Given the description of an element on the screen output the (x, y) to click on. 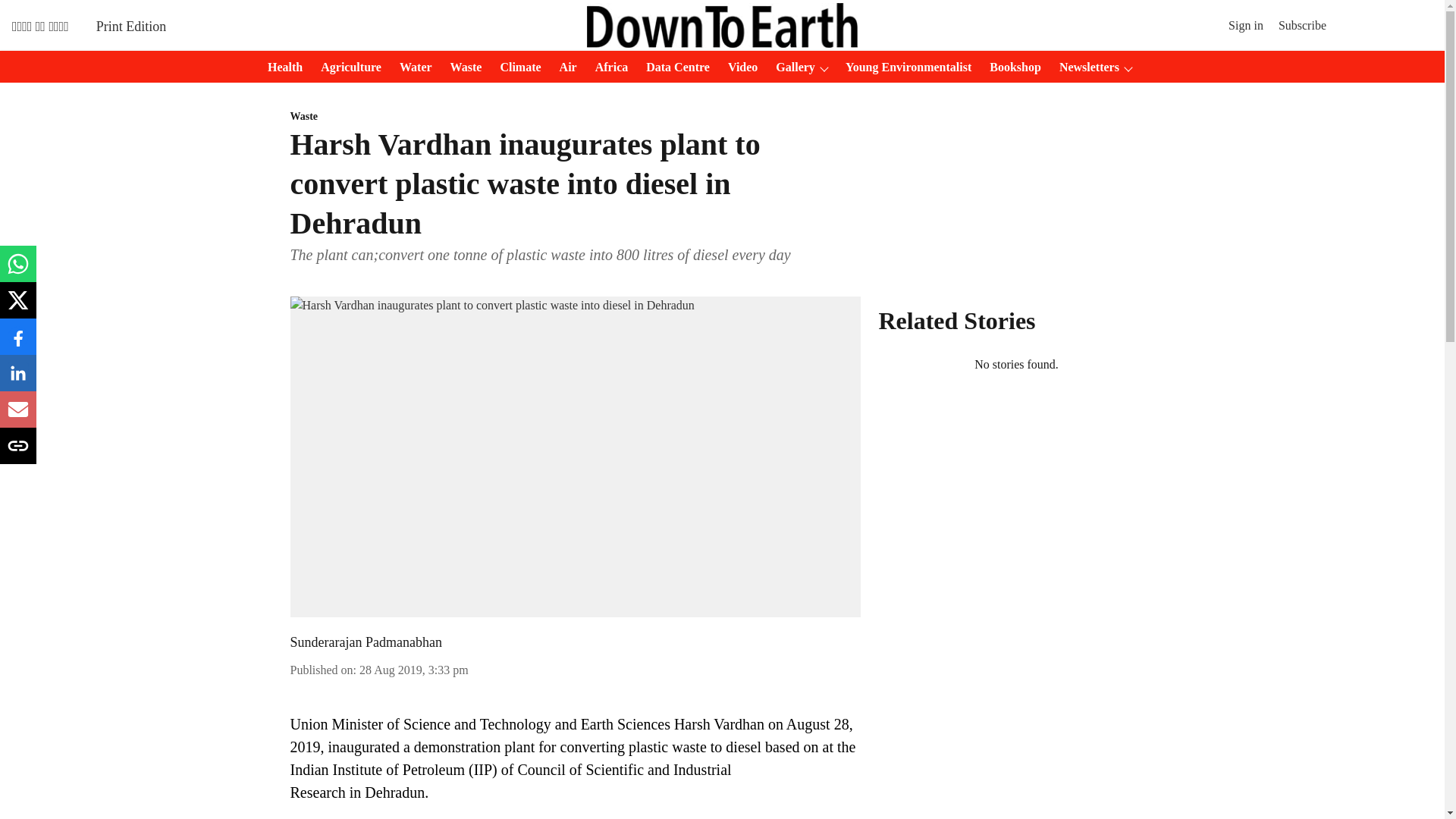
Africa (607, 67)
Sunderarajan Padmanabhan (365, 642)
Young Environmentalist (903, 67)
Print Edition (131, 26)
Waste (461, 67)
Waste (574, 116)
Water (411, 67)
Bookshop (1010, 67)
Data Centre (673, 67)
Climate (515, 67)
